Given the description of an element on the screen output the (x, y) to click on. 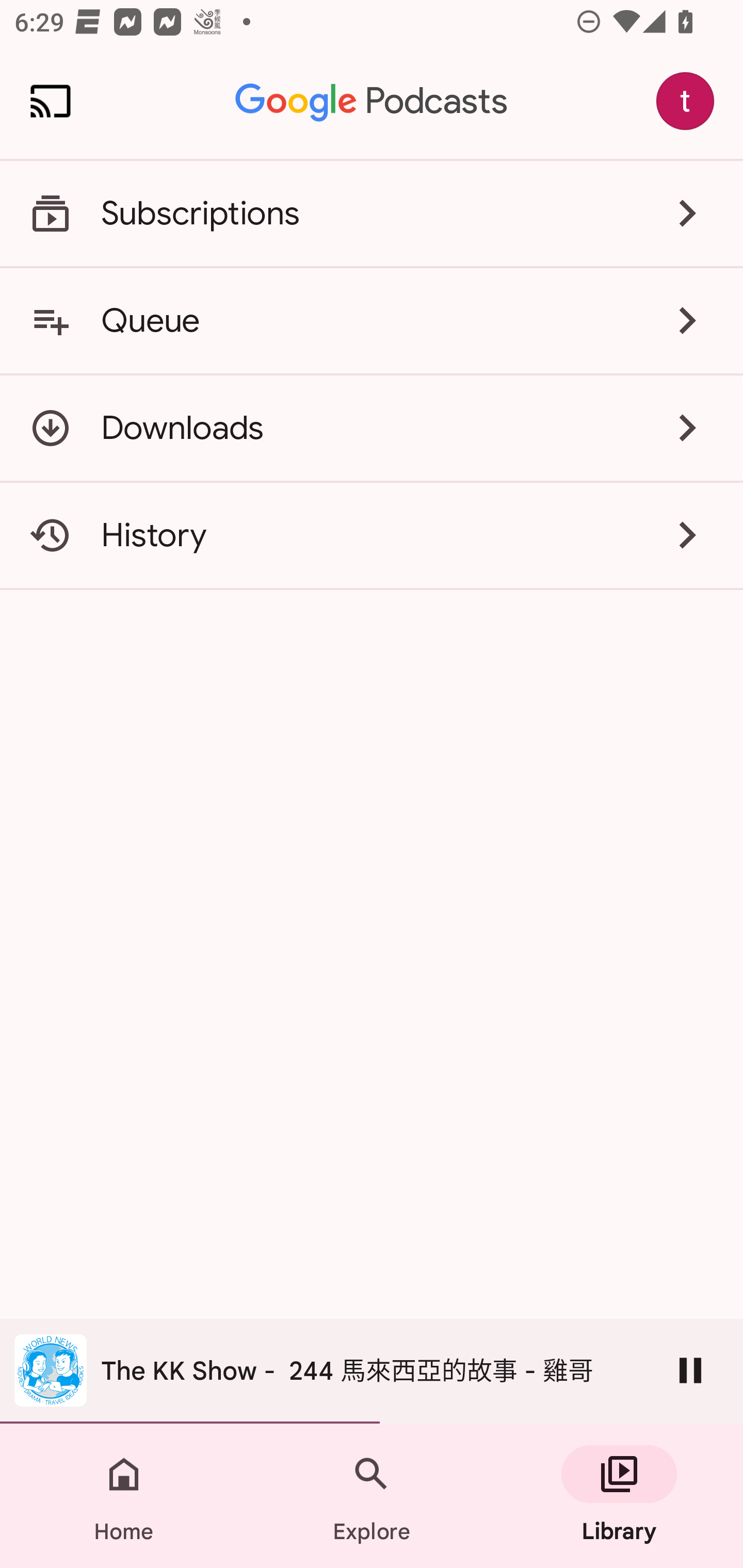
Cast. Disconnected (50, 101)
Subscriptions (371, 213)
Queue (371, 320)
Downloads (371, 427)
History (371, 535)
Pause (690, 1370)
Home (123, 1495)
Explore (371, 1495)
